Given the description of an element on the screen output the (x, y) to click on. 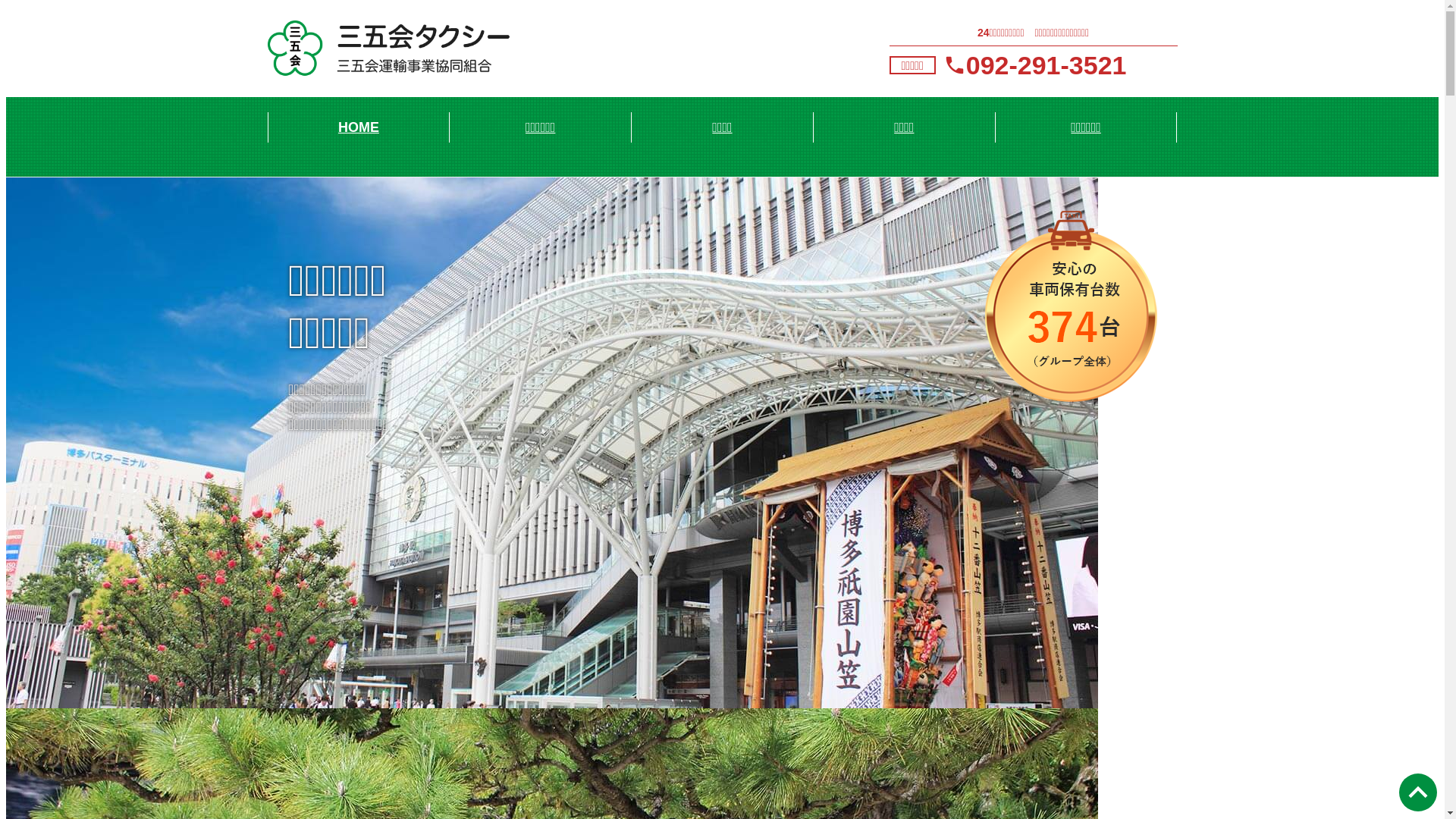
keyboard_arrow_up Element type: text (1418, 792)
HOME Element type: text (358, 127)
092-291-3521 Element type: text (1046, 64)
